Given the description of an element on the screen output the (x, y) to click on. 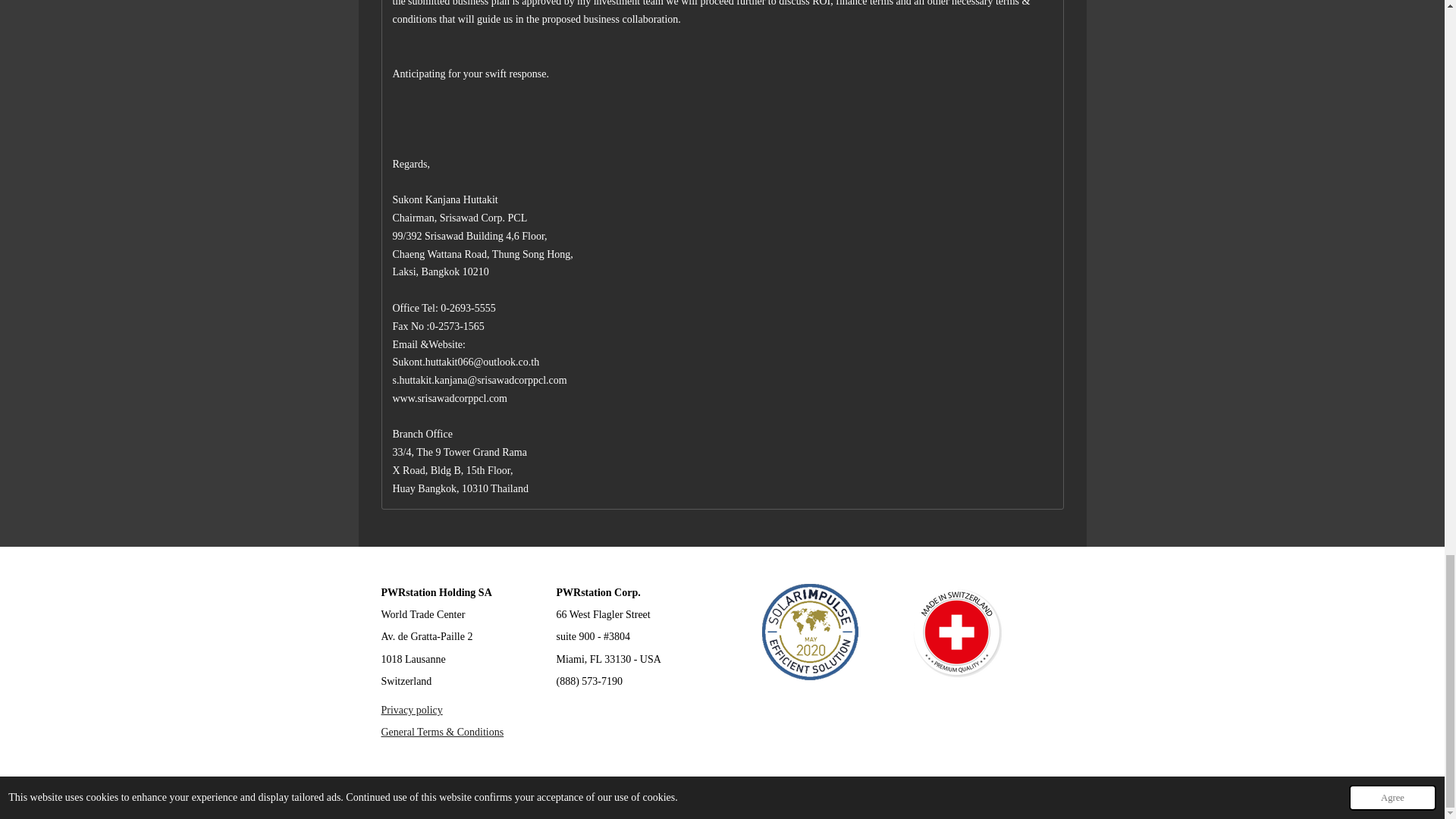
Privacy policy (411, 709)
